Given the description of an element on the screen output the (x, y) to click on. 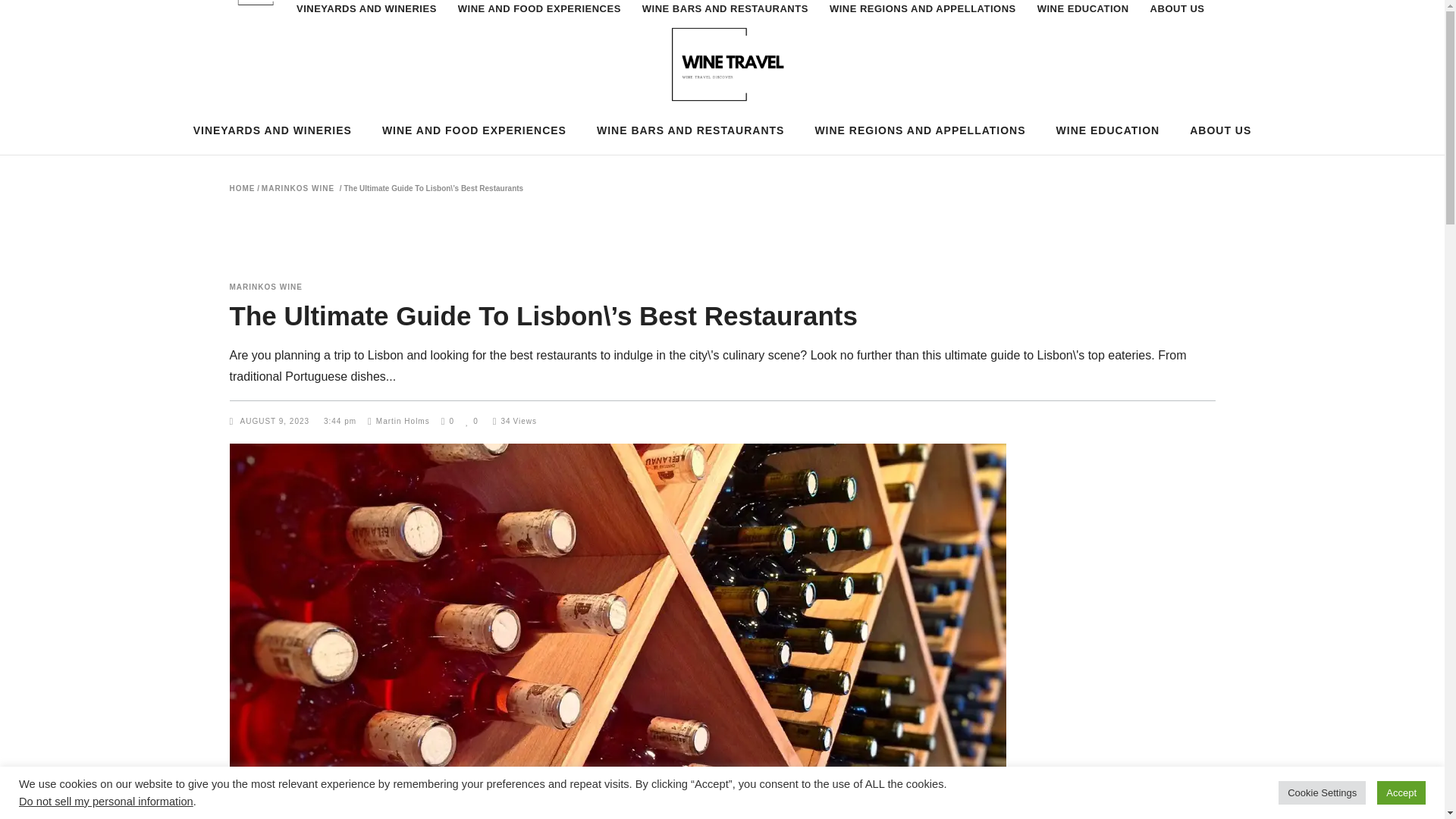
Like this (472, 420)
WINE BARS AND RESTAURANTS (724, 21)
WINE EDUCATION (1083, 21)
MARINKOS WINE (264, 286)
WINE REGIONS AND APPELLATIONS (920, 130)
ABOUT US (1177, 21)
WINE BARS AND RESTAURANTS (689, 130)
0 (447, 420)
VINEYARDS AND WINERIES (365, 21)
ABOUT US (1220, 130)
